Given the description of an element on the screen output the (x, y) to click on. 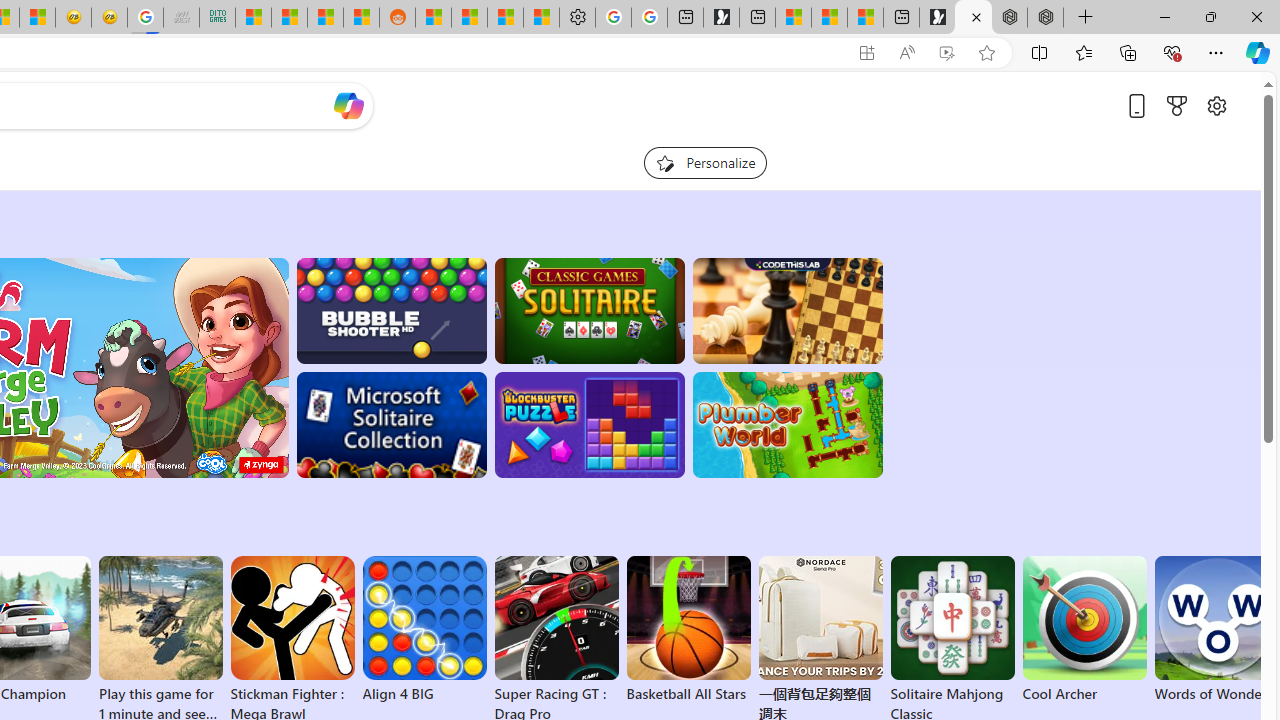
R******* | Trusted Community Engagement and Contributions (433, 17)
Classic Solitaire (589, 310)
DITOGAMES AG Imprint (217, 17)
Open settings (1216, 105)
Plumber World (787, 425)
Open Copilot (347, 105)
MSN (361, 17)
Cool Archer (1083, 629)
Basketball All Stars (688, 629)
Open Copilot (347, 105)
